Given the description of an element on the screen output the (x, y) to click on. 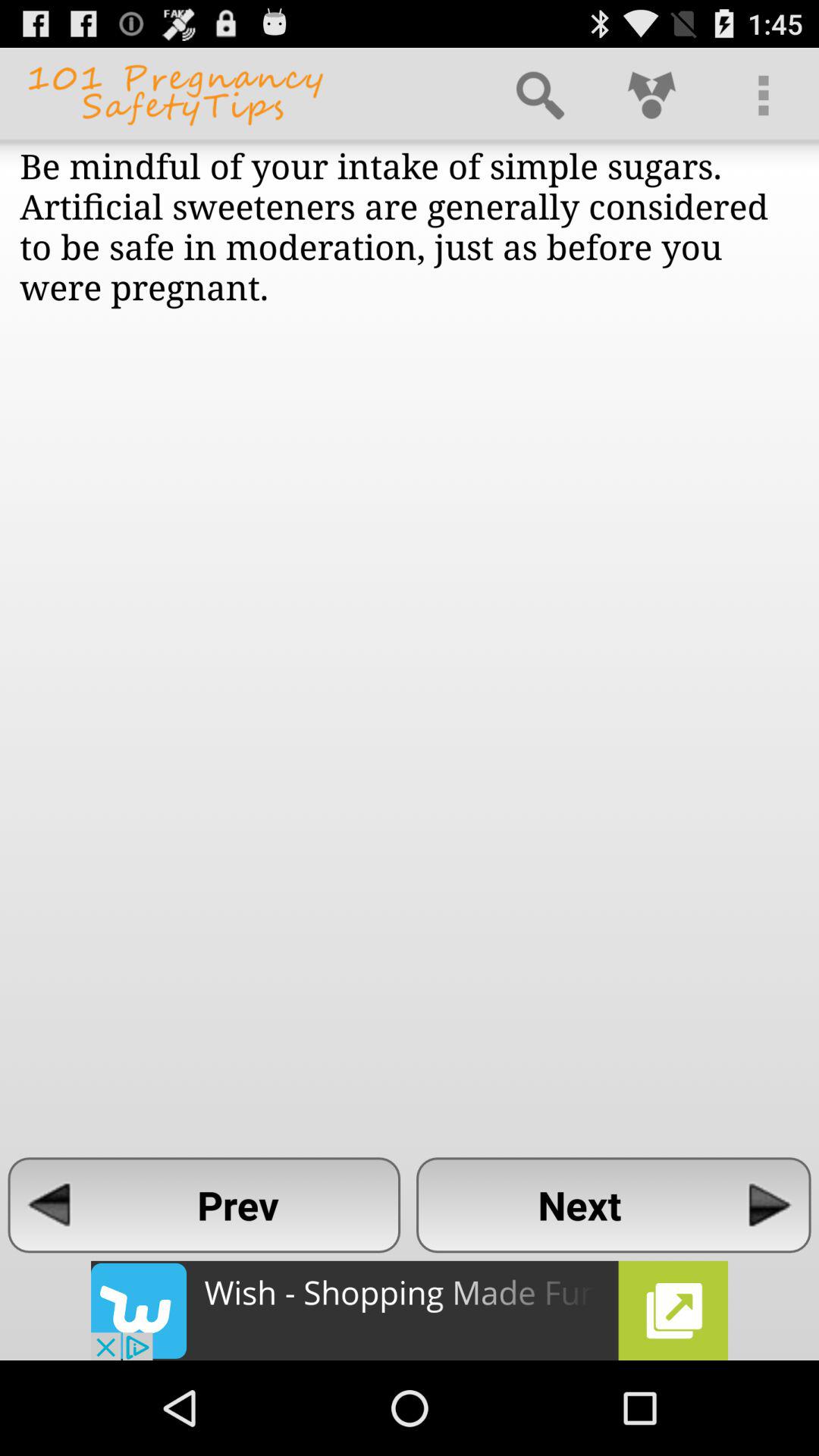
advertisement banner (409, 1310)
